Given the description of an element on the screen output the (x, y) to click on. 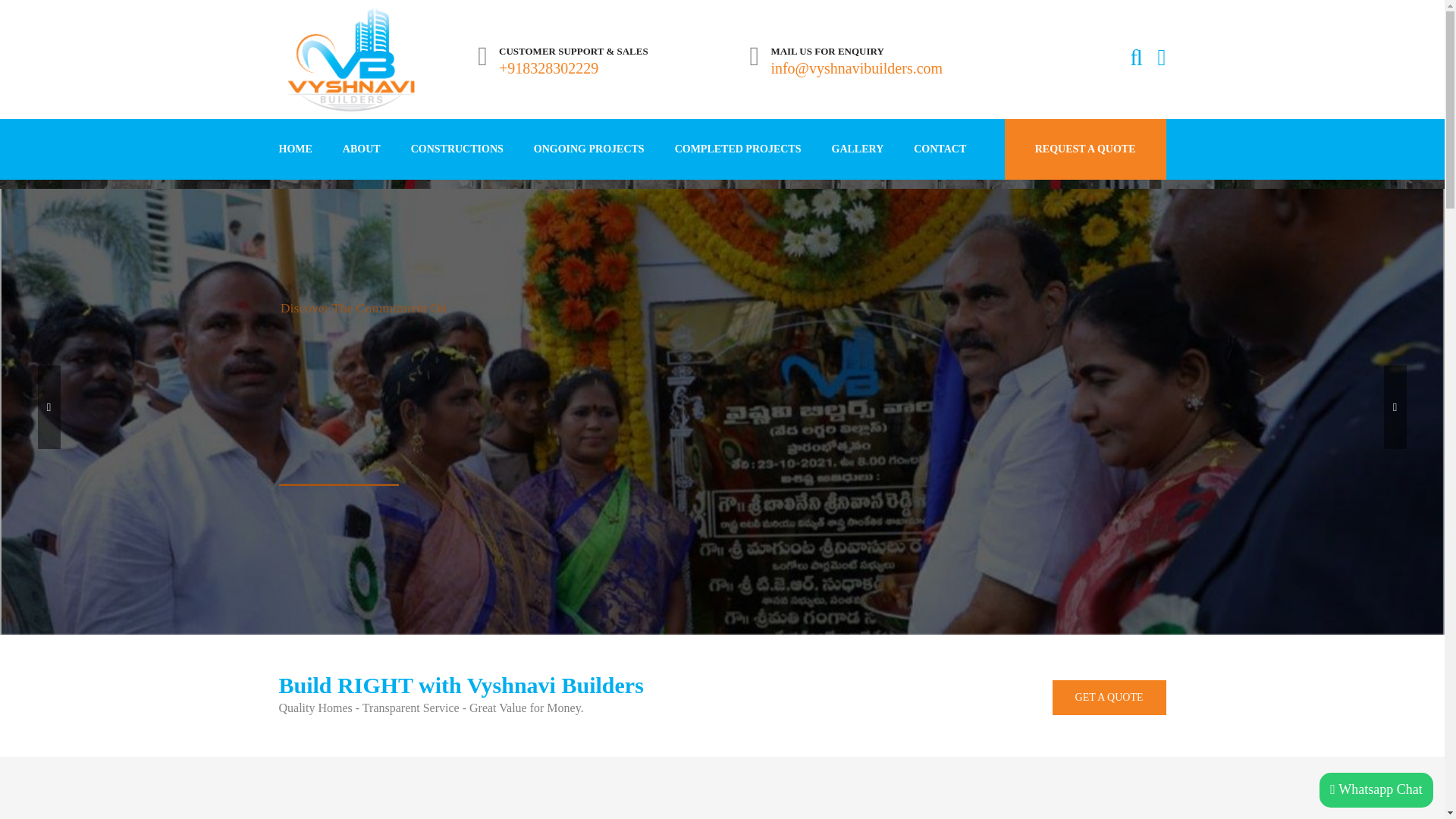
GET A QUOTE (1109, 697)
COMPLETED PROJECTS (737, 148)
ONGOING PROJECTS (588, 148)
CONTACT (939, 148)
CONSTRUCTIONS (457, 148)
ABOUT (361, 148)
GALLERY (856, 148)
REQUEST A QUOTE (1085, 148)
OUR SERVICES (338, 500)
